Given the description of an element on the screen output the (x, y) to click on. 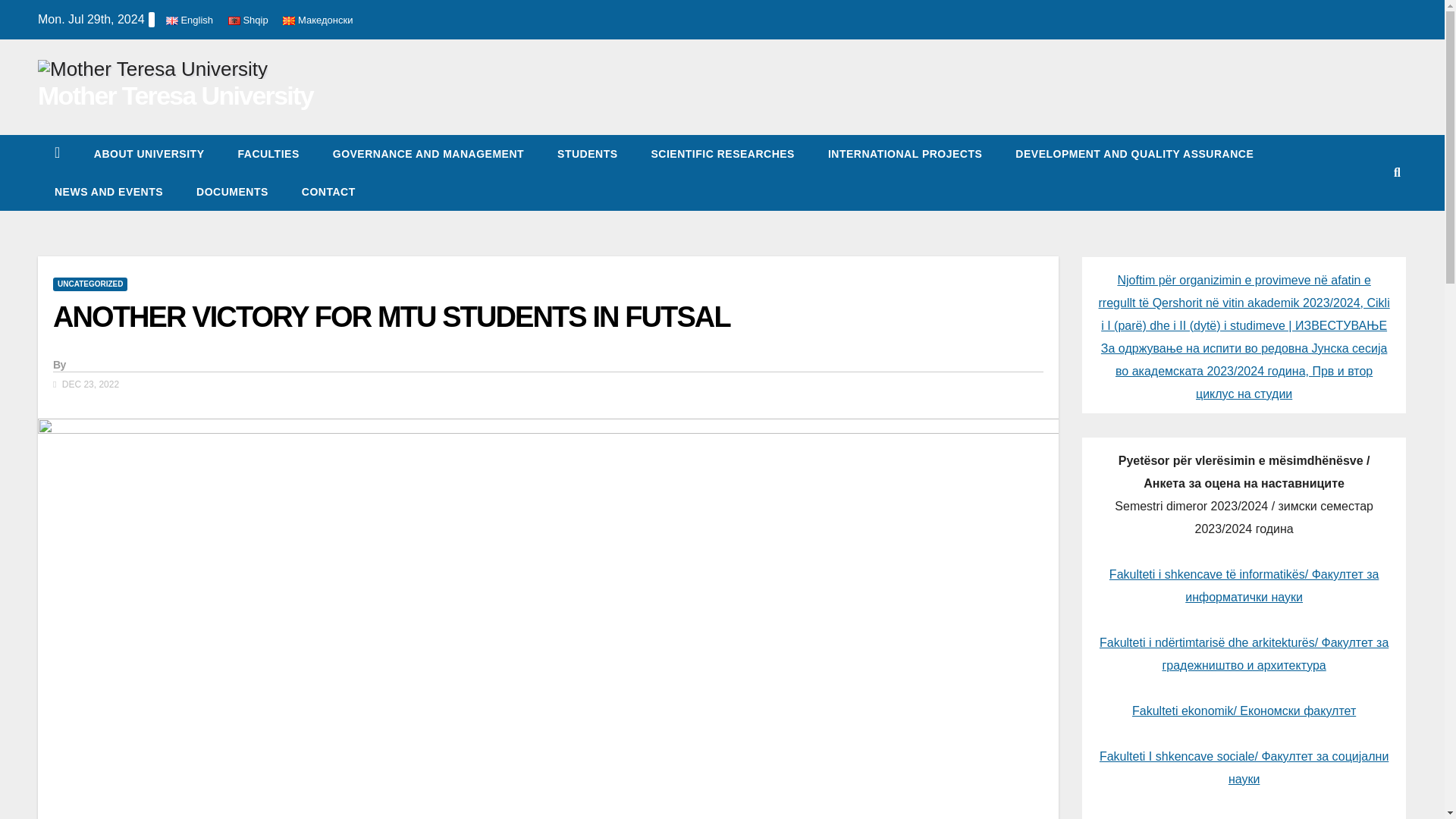
English (189, 19)
ABOUT UNIVERSITY (149, 153)
GOVERNANCE AND MANAGEMENT (427, 153)
About University (149, 153)
STUDENTS (586, 153)
FACULTIES (268, 153)
Faculties (268, 153)
Mother Teresa University (175, 95)
Shqip (247, 19)
